Given the description of an element on the screen output the (x, y) to click on. 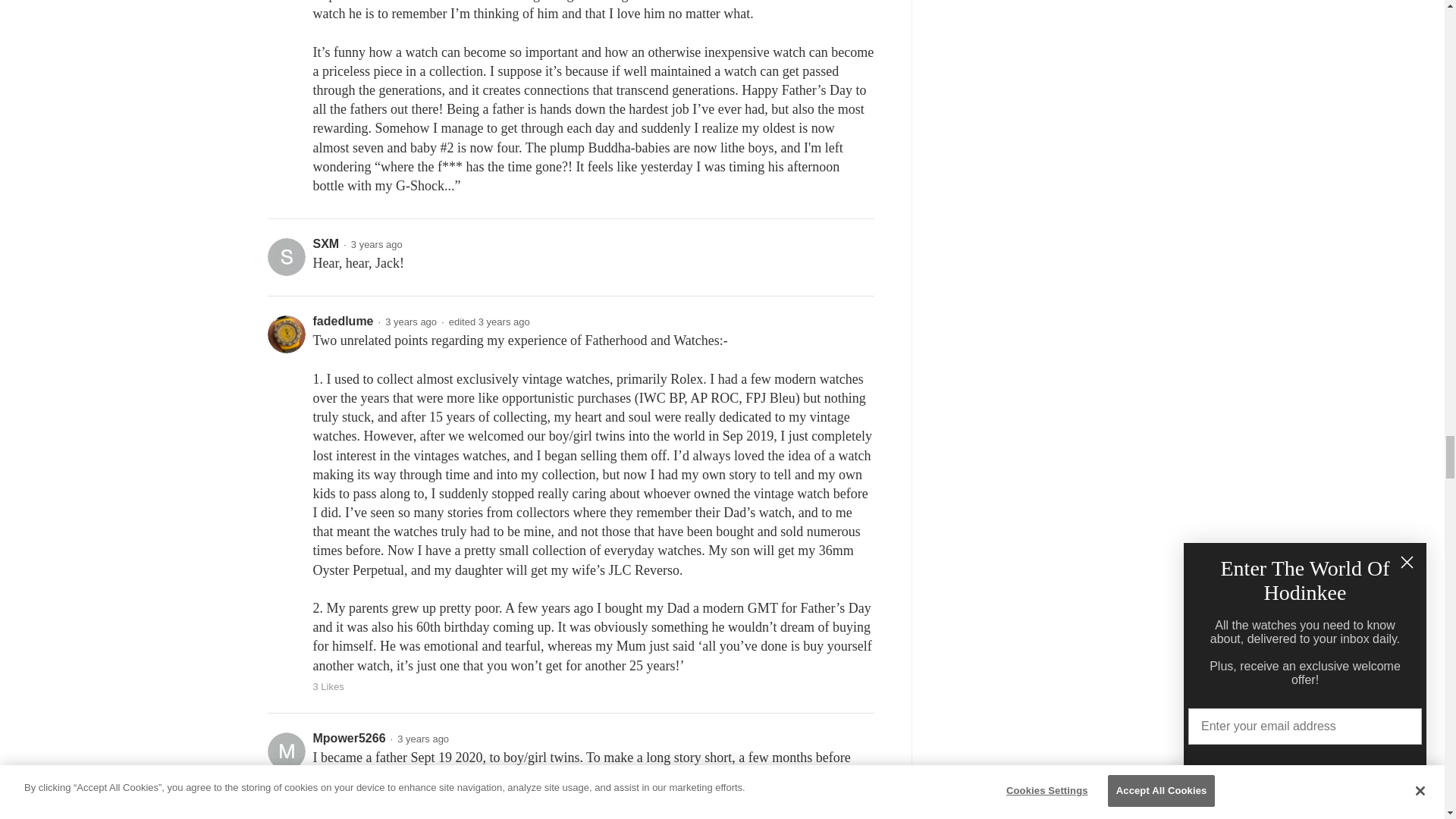
2021-06-17 22:32 (376, 244)
2021-06-17 19:13 (504, 321)
2021-06-17 19:09 (410, 321)
2021-06-17 18:55 (422, 738)
